Given the description of an element on the screen output the (x, y) to click on. 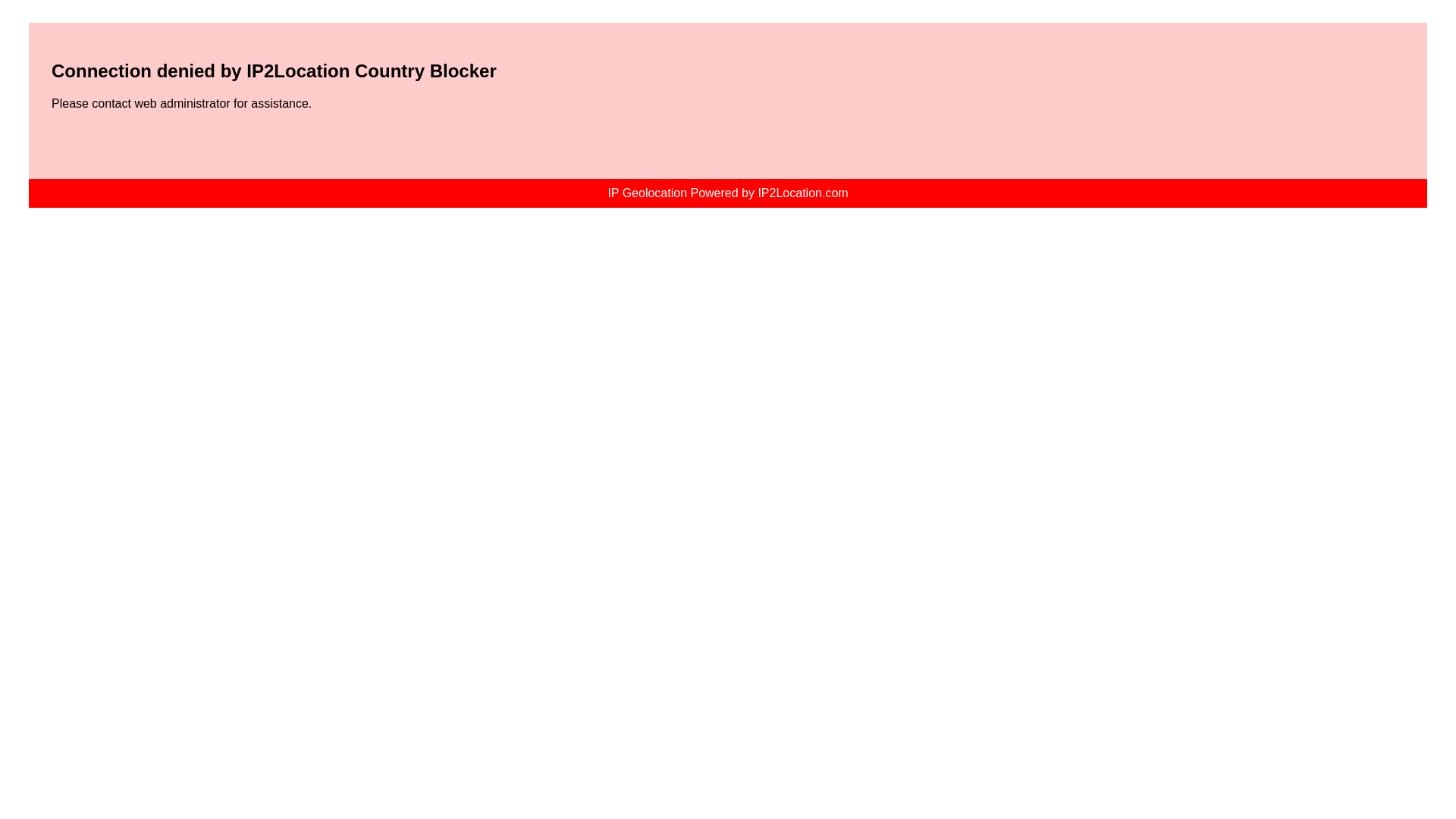
IP Geolocation Powered by IP2Location.com (727, 192)
